Given the description of an element on the screen output the (x, y) to click on. 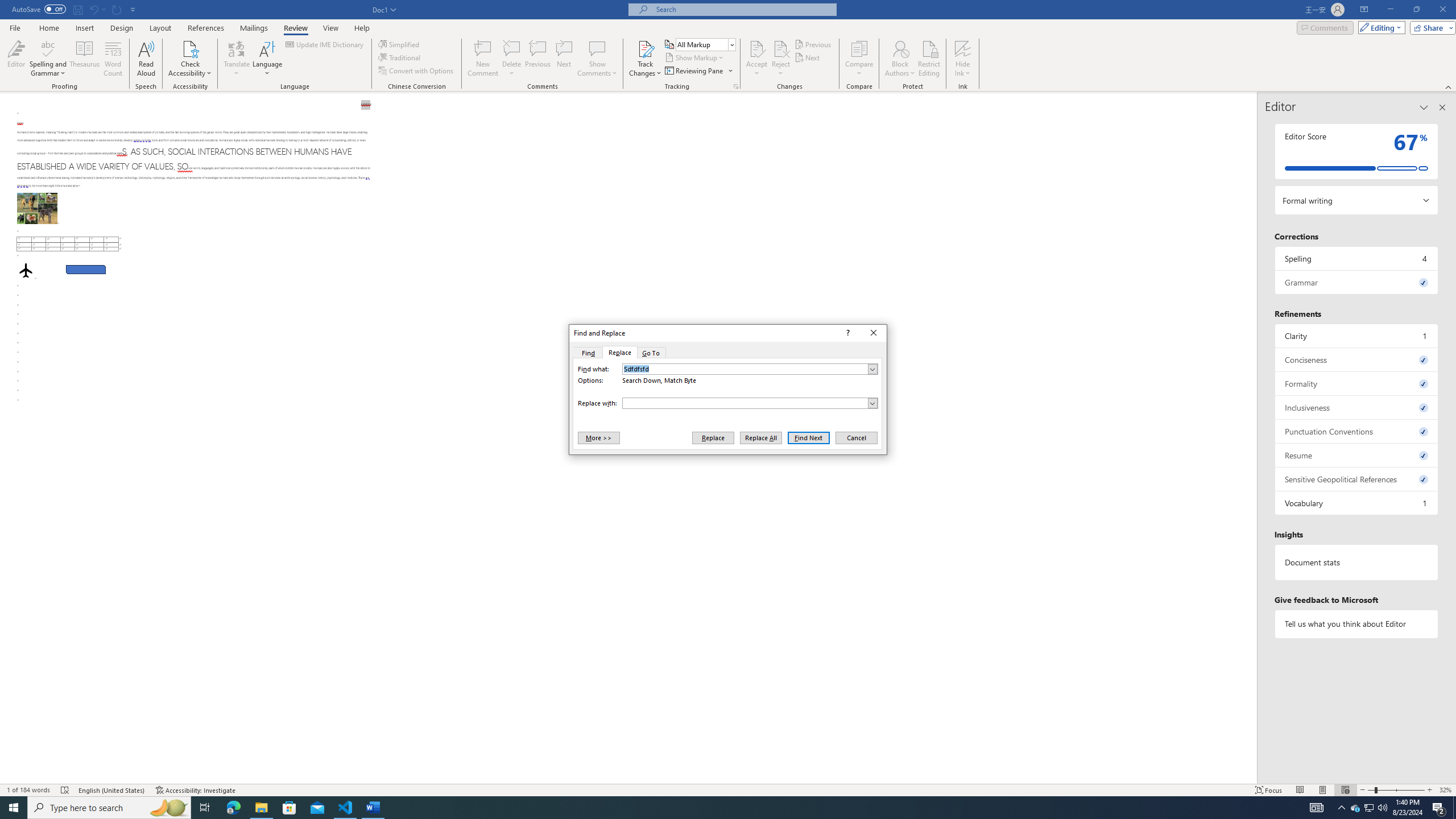
Morphological variation in six dogs (36, 208)
Accept and Move to Next (756, 48)
Block Authors (900, 58)
User Promoted Notification Area (1368, 807)
Convert with Options... (417, 69)
Microsoft Store (289, 807)
Show Markup (695, 56)
Spelling and Grammar (48, 48)
Airplane with solid fill (25, 270)
